Given the description of an element on the screen output the (x, y) to click on. 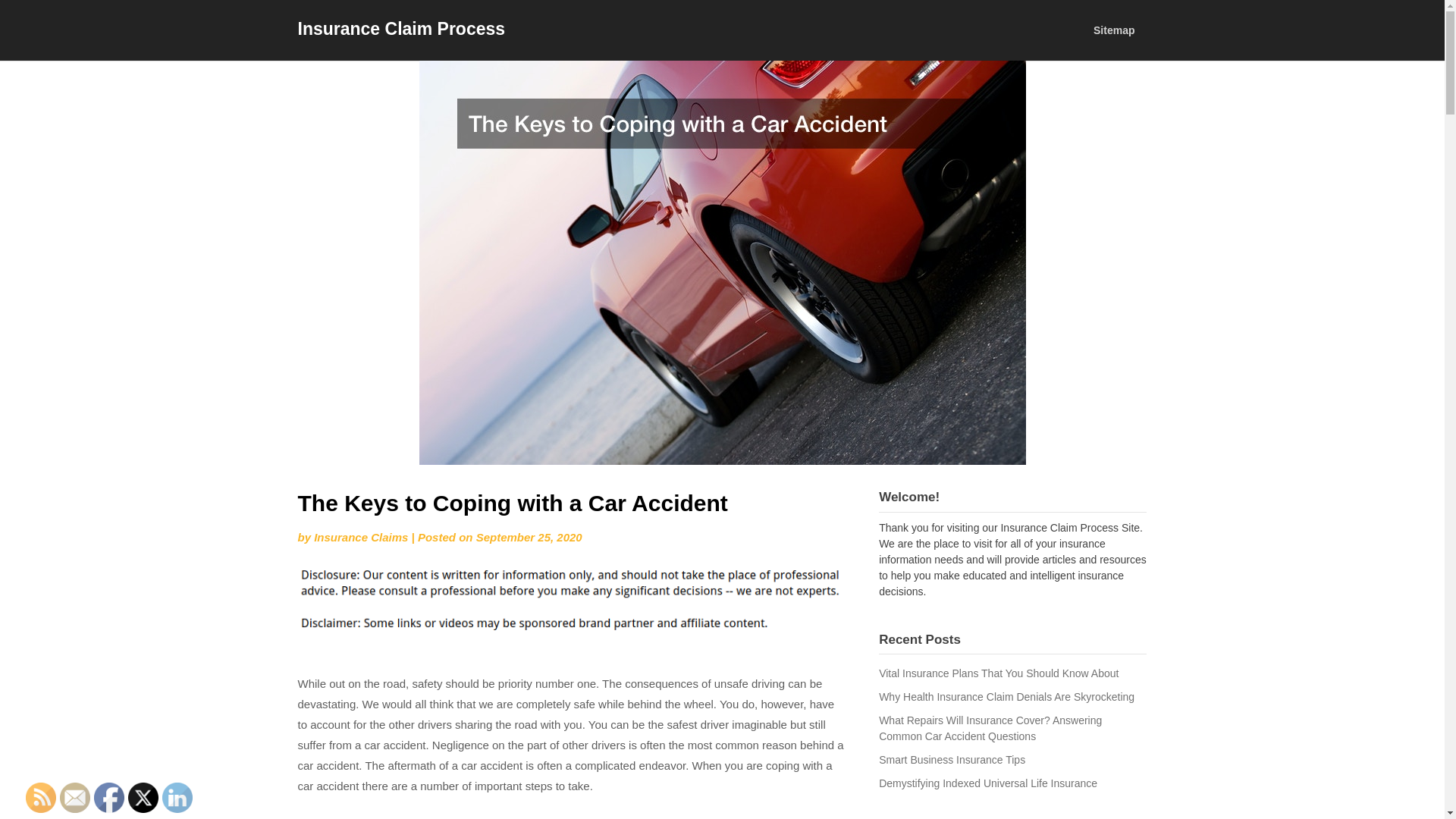
Insurance Claims (360, 536)
Sitemap (1114, 30)
Follow by Email (74, 797)
September 25, 2020 (529, 536)
Why Health Insurance Claim Denials Are Skyrocketing (1006, 696)
Smart Business Insurance Tips (952, 759)
Demystifying Indexed Universal Life Insurance (988, 783)
RSS (41, 797)
Insurance Claim Process (401, 28)
